Given the description of an element on the screen output the (x, y) to click on. 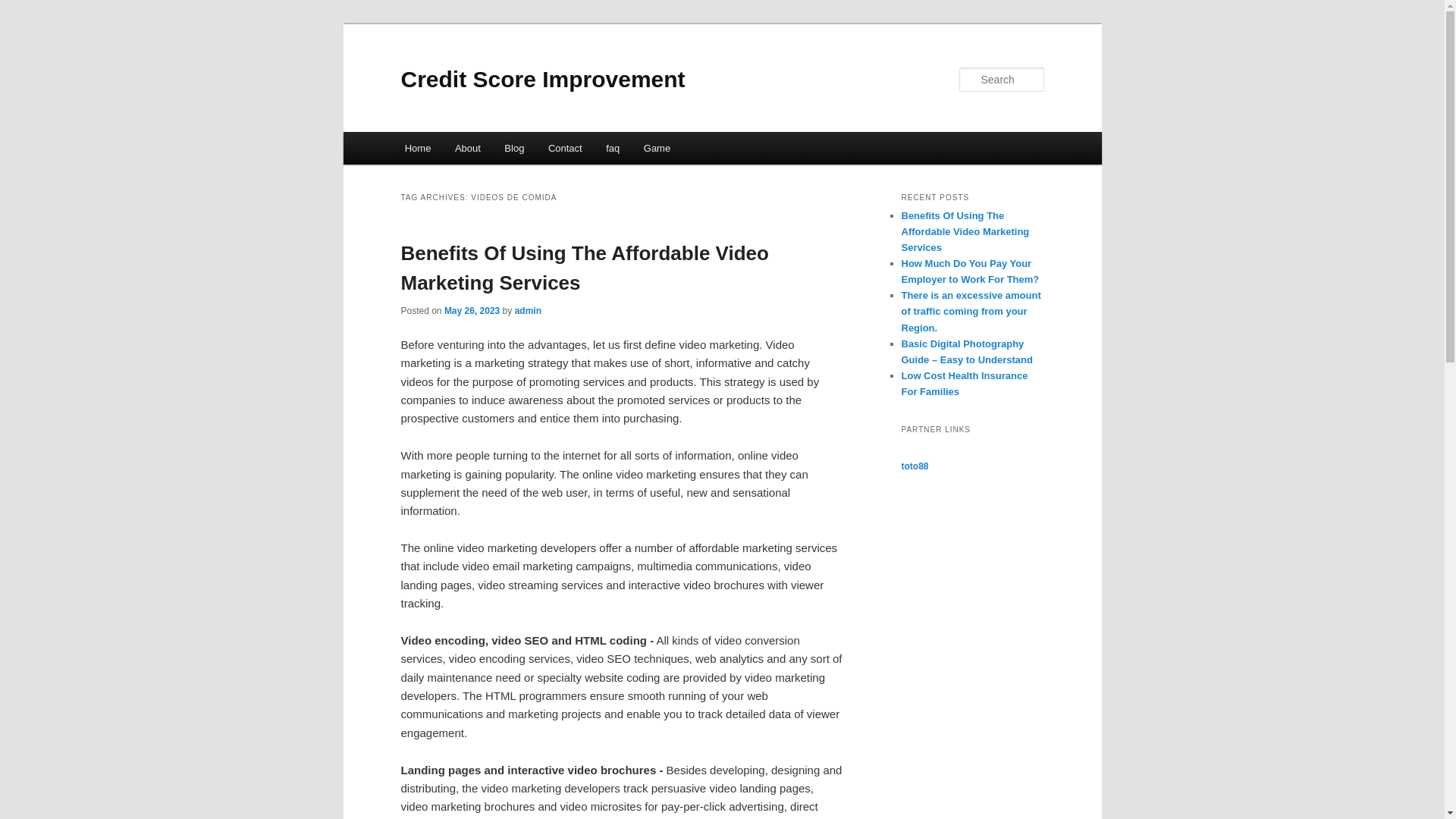
Benefits Of Using The Affordable Video Marketing Services (584, 267)
Contact (564, 147)
Search (24, 8)
faq (612, 147)
Credit Score Improvement (542, 78)
admin (528, 310)
Benefits Of Using The Affordable Video Marketing Services (965, 231)
Game (656, 147)
Low Cost Health Insurance For Families (964, 383)
Home (417, 147)
View all posts by admin (528, 310)
How Much Do You Pay Your Employer to Work For Them? (970, 271)
Home (417, 147)
About (467, 147)
